Given the description of an element on the screen output the (x, y) to click on. 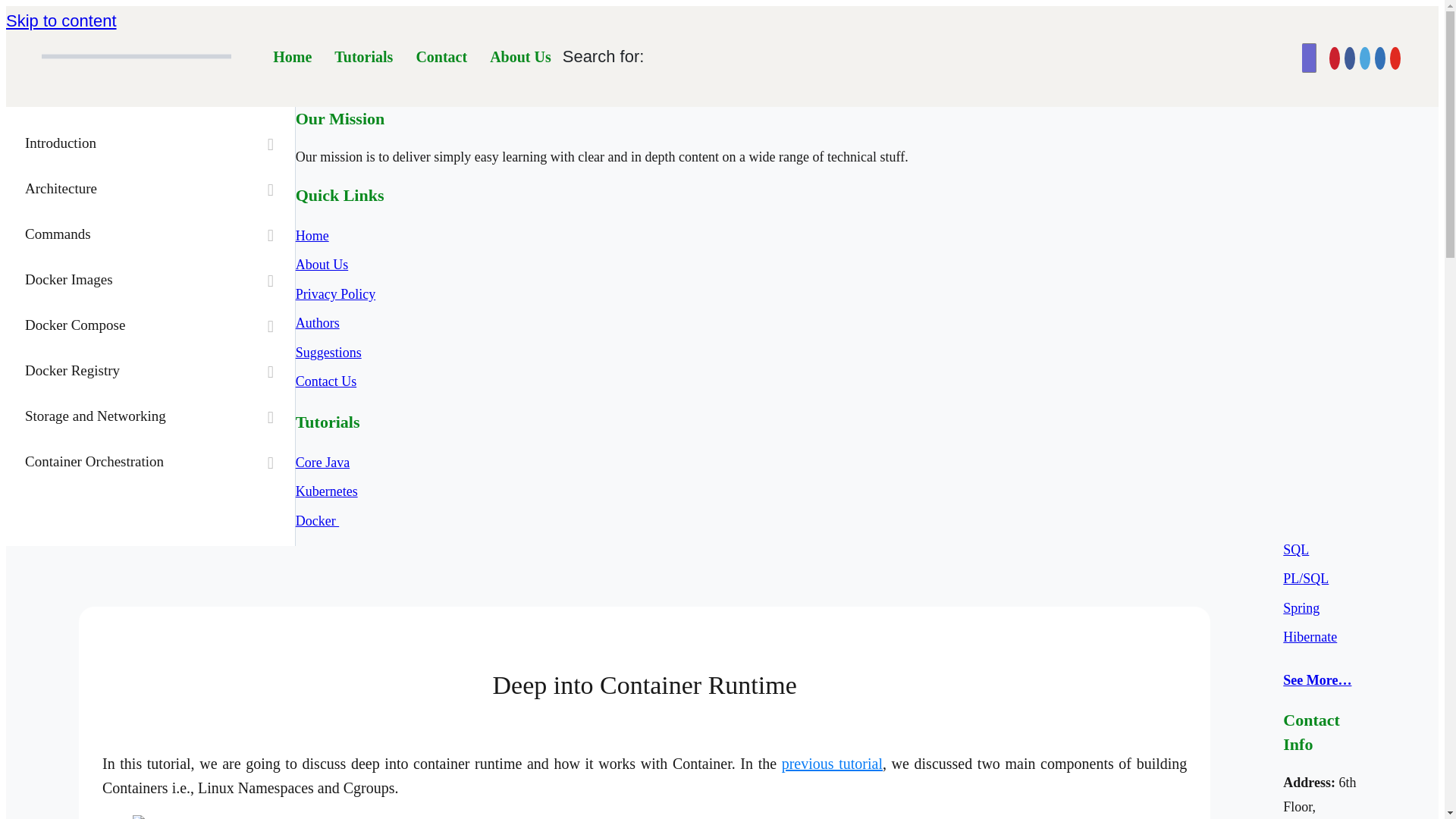
Skip to content (60, 20)
Search (21, 7)
About Us (520, 56)
Home (292, 56)
Contact (441, 56)
Tutorials (363, 56)
